Given the description of an element on the screen output the (x, y) to click on. 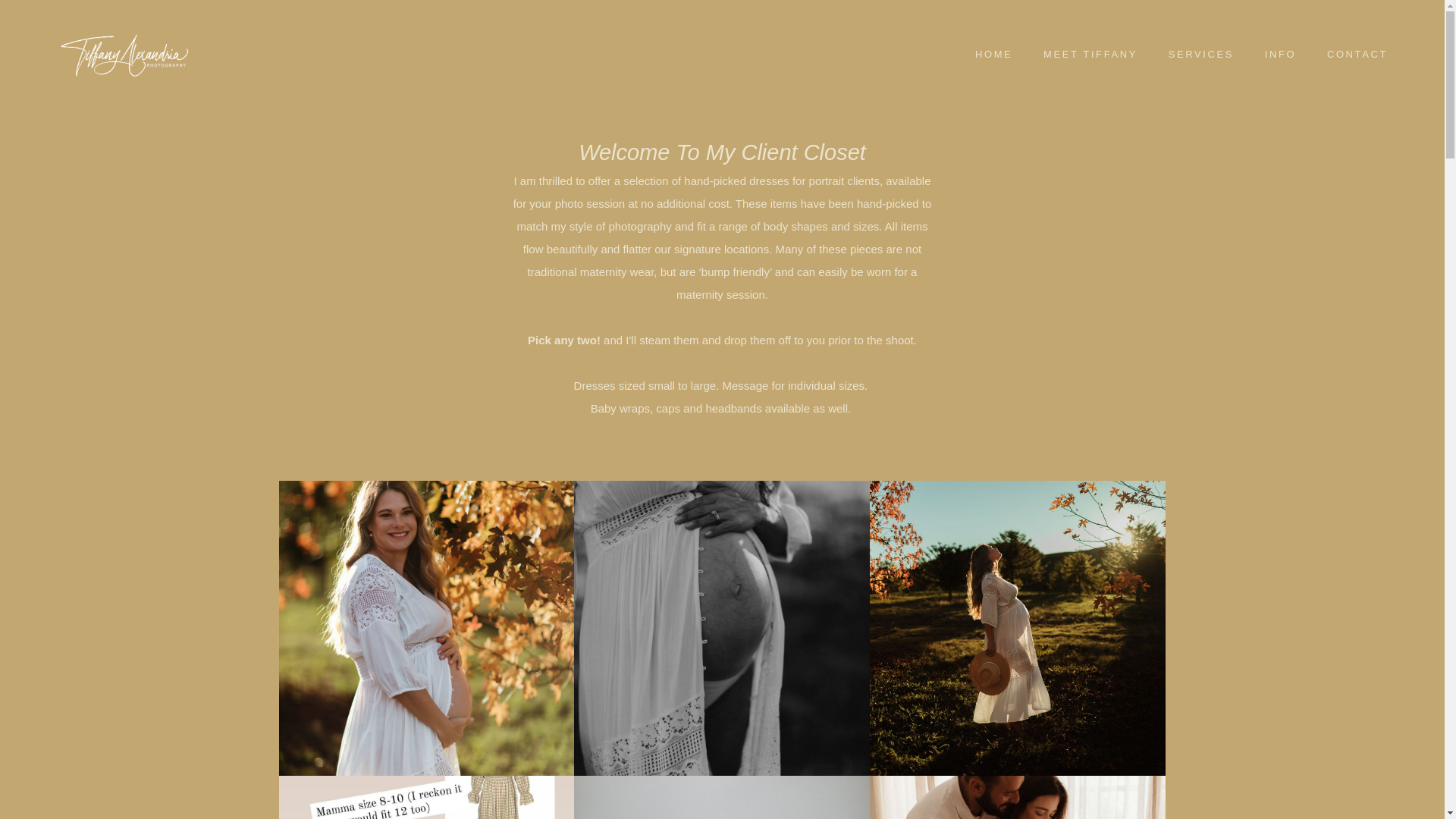
INFO (1279, 54)
SERVICES (1200, 54)
HOME (994, 54)
MEET TIFFANY (1091, 54)
CONTACT (1357, 54)
